Given the description of an element on the screen output the (x, y) to click on. 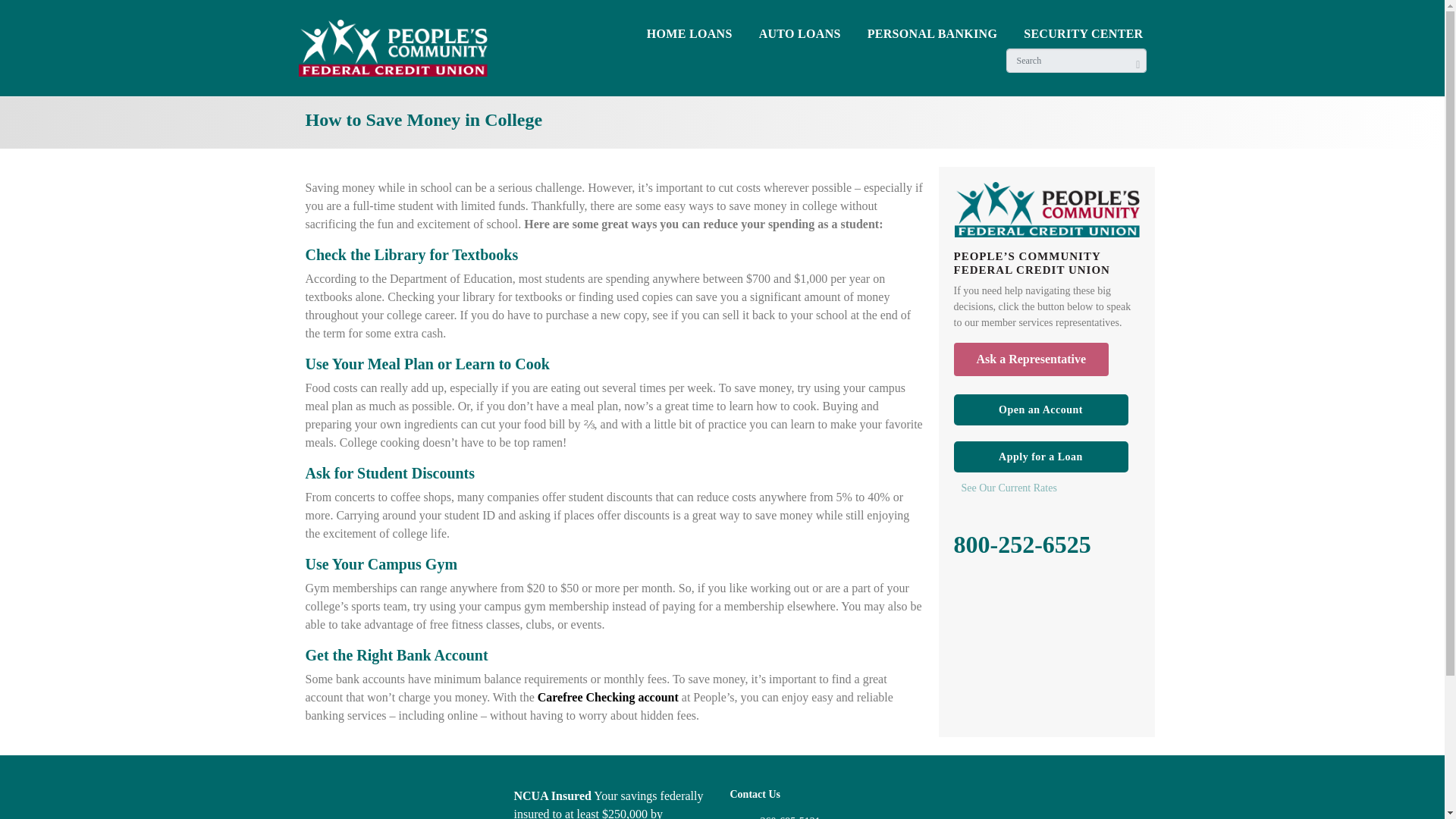
Open an Account (1040, 409)
See Our Current Rates (1050, 487)
HOME LOANS (689, 35)
Apply for a Loan (1040, 456)
PERSONAL BANKING (932, 35)
AUTO LOANS (799, 35)
800-252-6525 (1021, 543)
Ask a Representative (1031, 359)
SECURITY CENTER (1083, 35)
Carefree Checking account (607, 697)
